Given the description of an element on the screen output the (x, y) to click on. 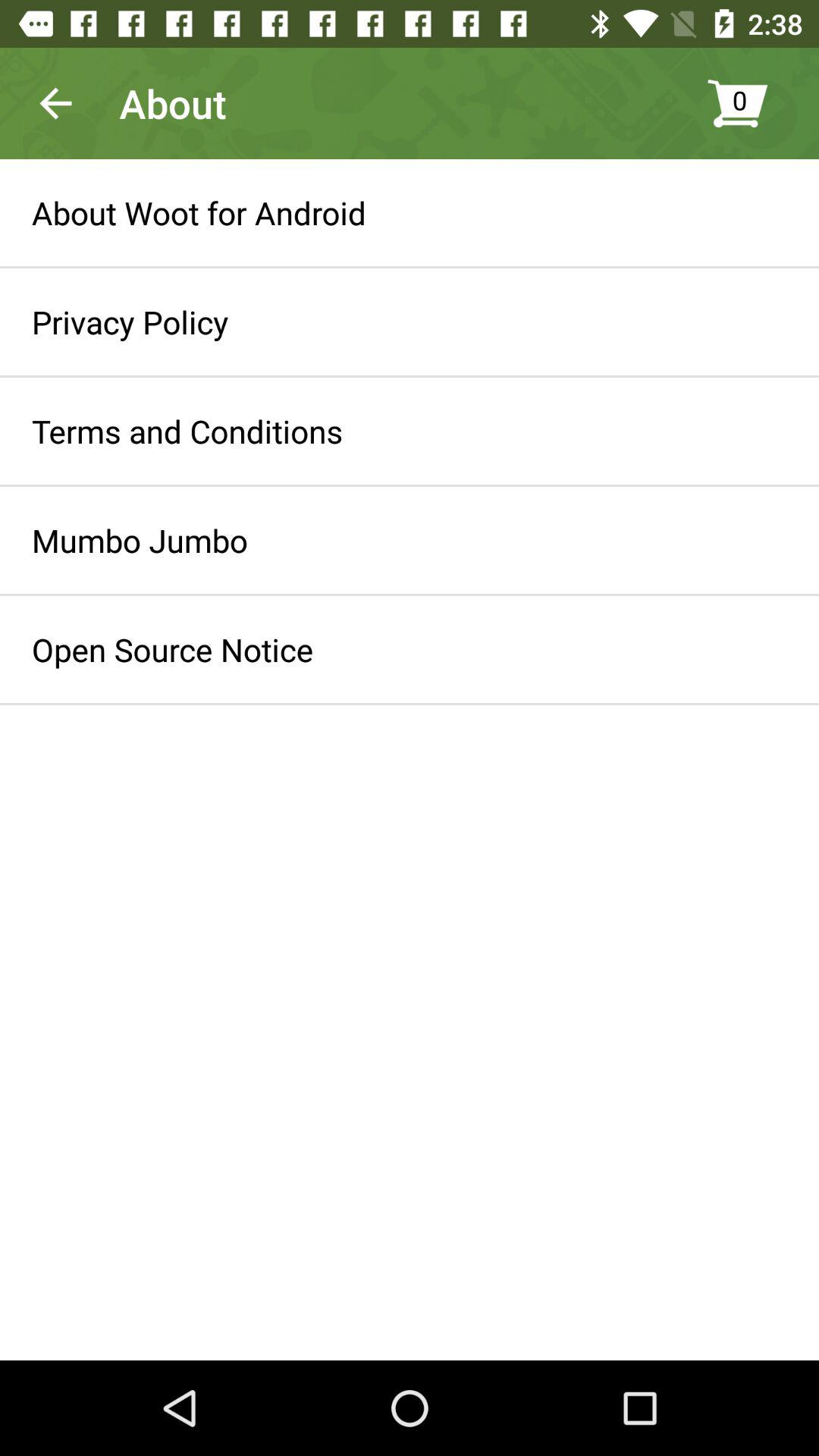
select icon above the privacy policy item (198, 212)
